Given the description of an element on the screen output the (x, y) to click on. 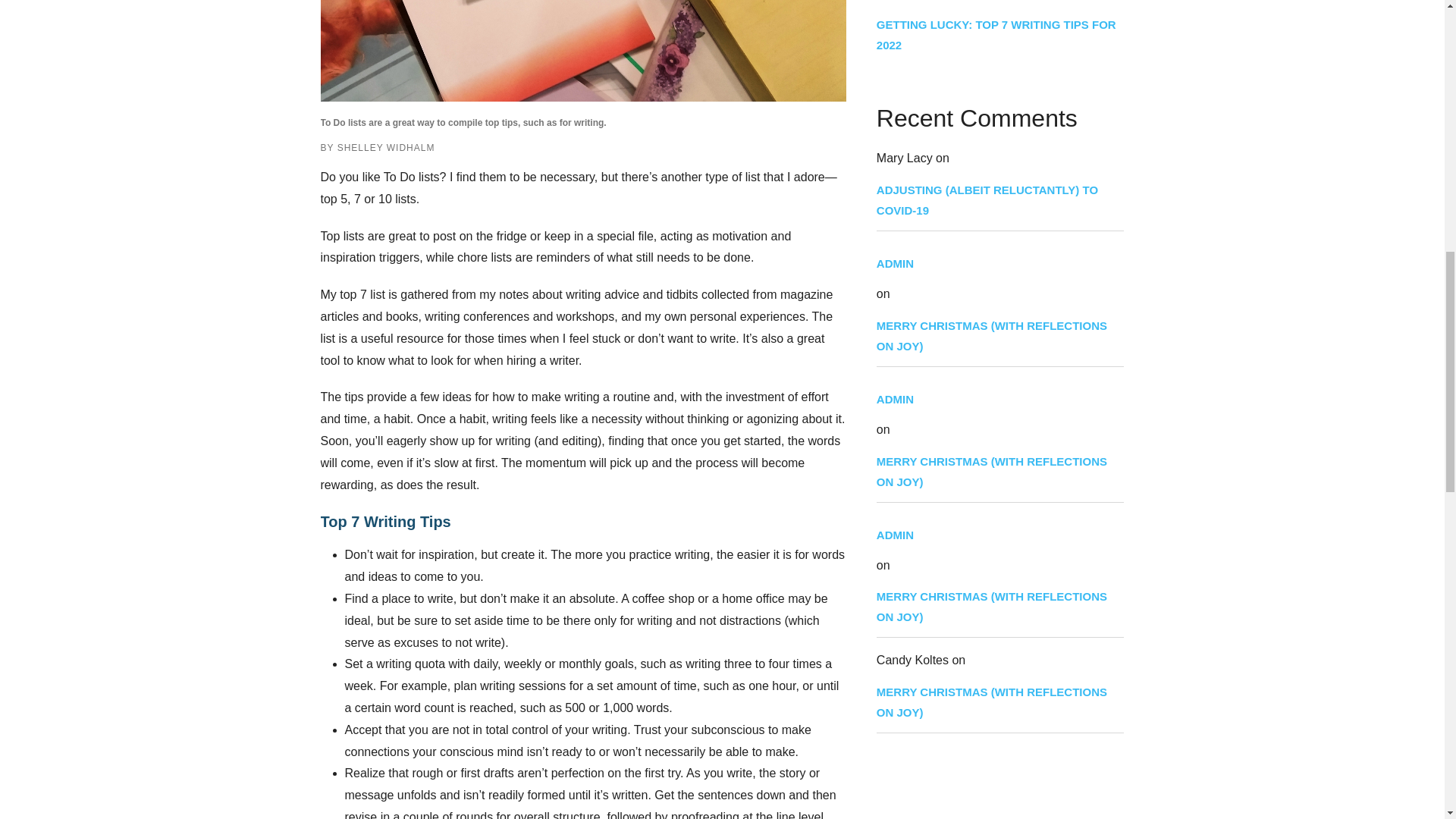
GETTING LUCKY: TOP 7 POETRY TIPS FOR 2022 (1000, 2)
ADMIN (1000, 263)
GETTING LUCKY: TOP 7 WRITING TIPS FOR 2022 (1000, 34)
ADMIN (1000, 535)
ADMIN (1000, 399)
